Given the description of an element on the screen output the (x, y) to click on. 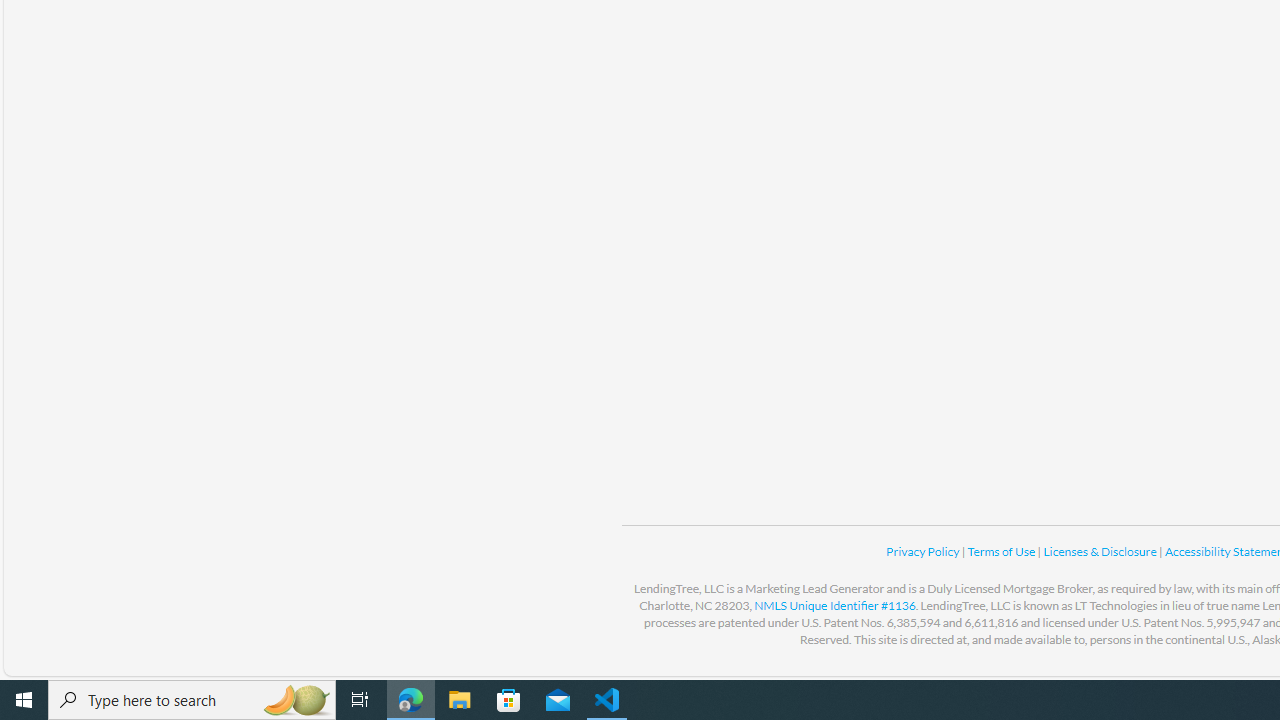
Licenses & Disclosure  (1100, 551)
NMLS Unique Identifier #1136 (834, 605)
Terms of Use  (1002, 551)
Privacy Policy  (923, 551)
